Given the description of an element on the screen output the (x, y) to click on. 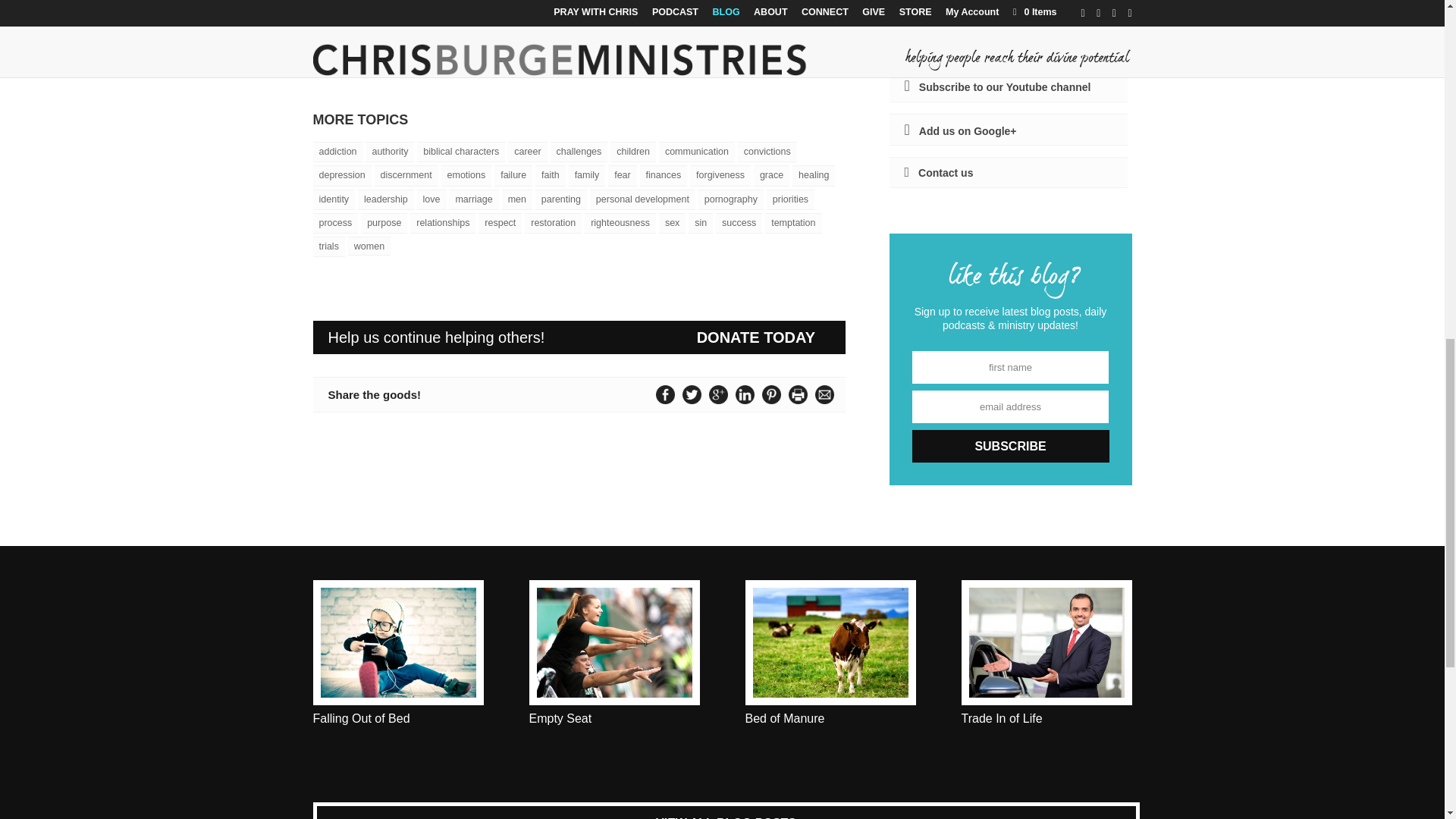
CLICK TO TWEET (800, 49)
communication (697, 151)
challenges (579, 151)
career (526, 151)
Tweet about this (691, 394)
convictions (767, 151)
First Name (1010, 367)
Pin this page (771, 394)
addiction (337, 151)
authority (389, 151)
Share this on Facebook (665, 394)
Email Address (1010, 406)
biblical characters (461, 151)
Print this page (797, 394)
Email this page (824, 394)
